Given the description of an element on the screen output the (x, y) to click on. 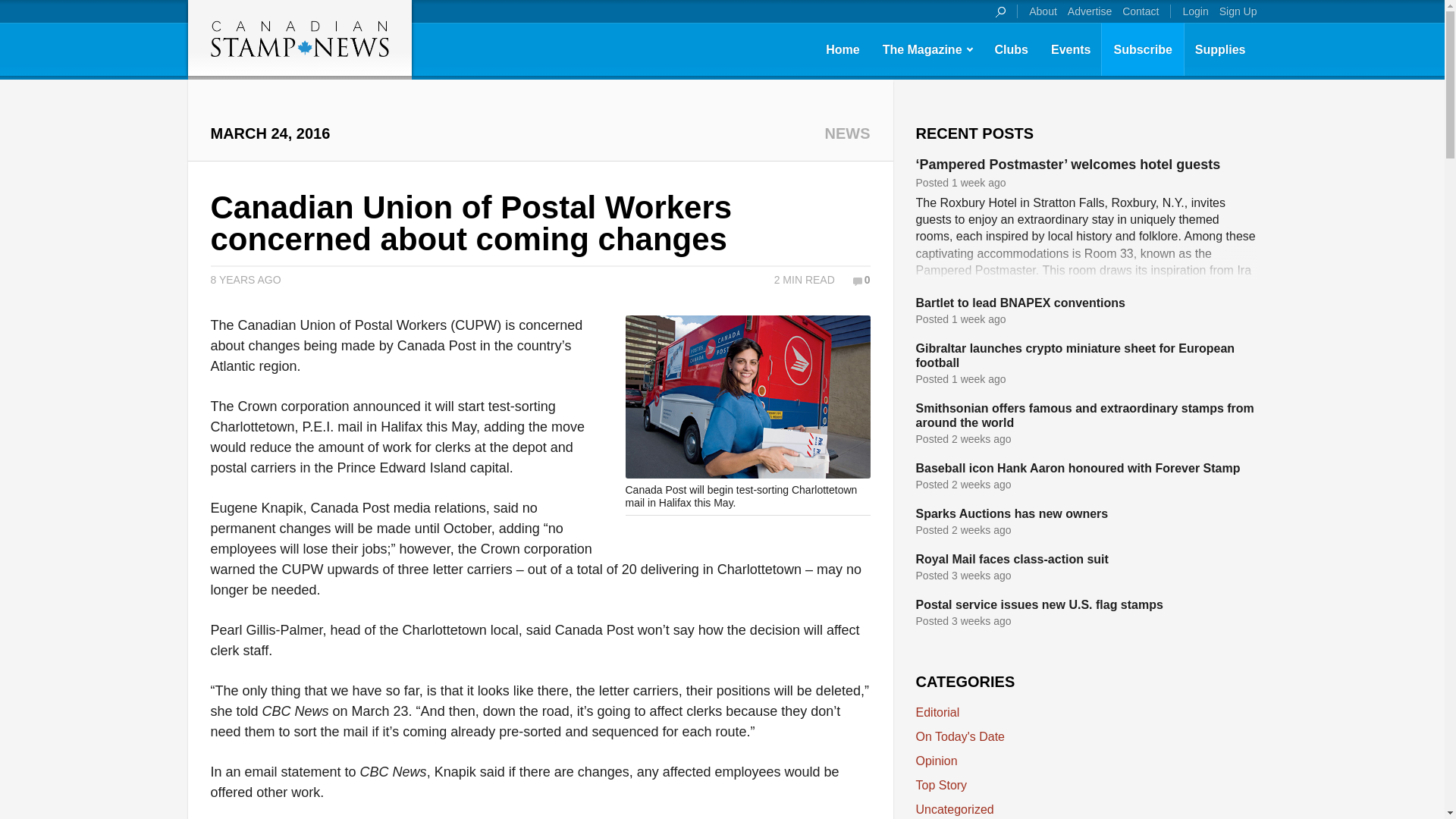
Sign Up (1238, 10)
Bartlet to lead BNAPEX conventions (1020, 302)
Supplies (1220, 49)
About (1042, 10)
Login (1194, 10)
Contact (1139, 10)
Events (1070, 49)
0 (861, 279)
Advertise (1089, 10)
Subscribe (1141, 49)
Clubs (1011, 49)
On today's date in Canadian philatelic history. (960, 736)
The Magazine (927, 49)
Home (841, 49)
